Given the description of an element on the screen output the (x, y) to click on. 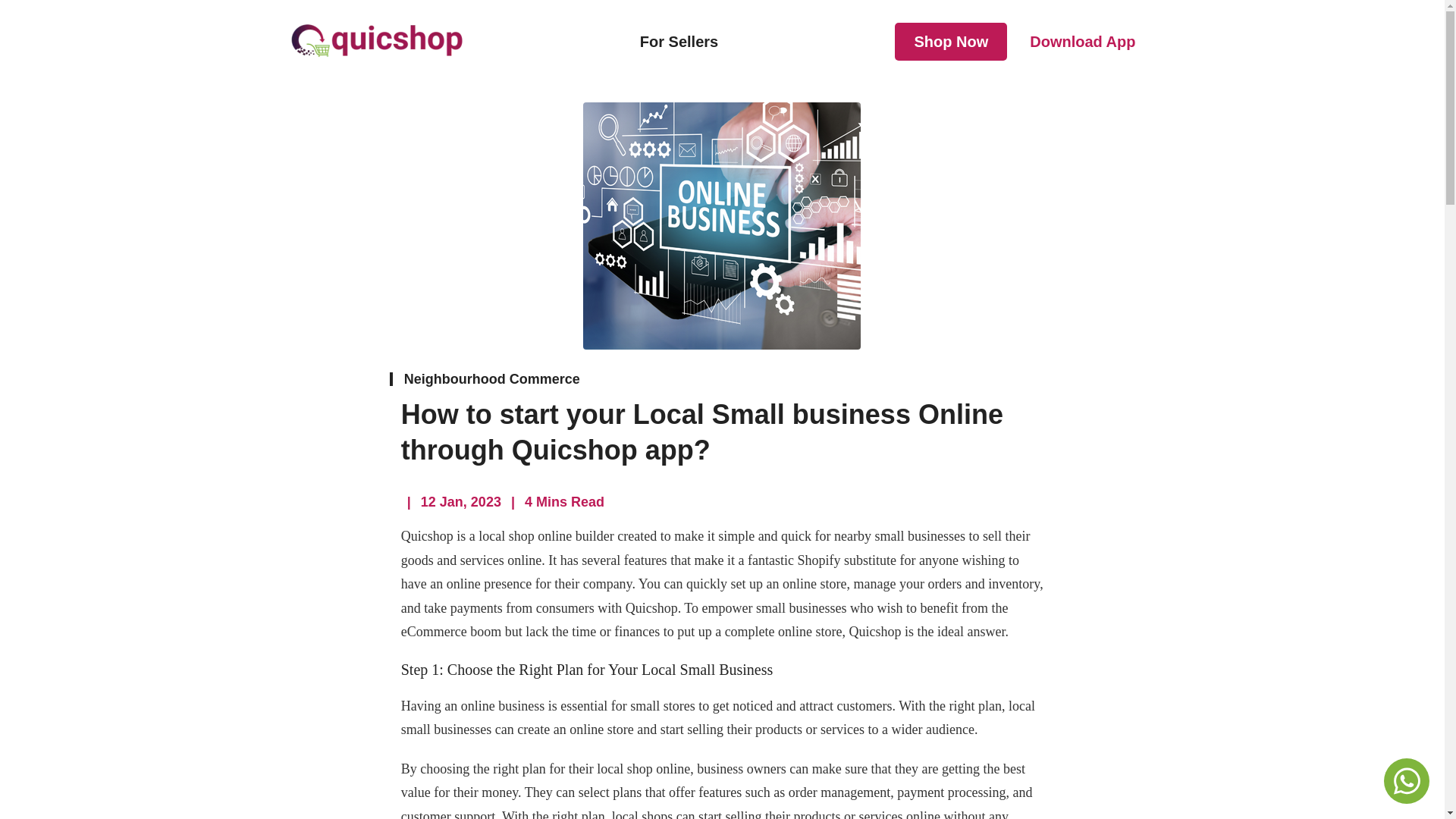
For Sellers (678, 40)
Shop Now (951, 41)
Download App (1082, 41)
Neighbourhood Commerce (491, 378)
